Given the description of an element on the screen output the (x, y) to click on. 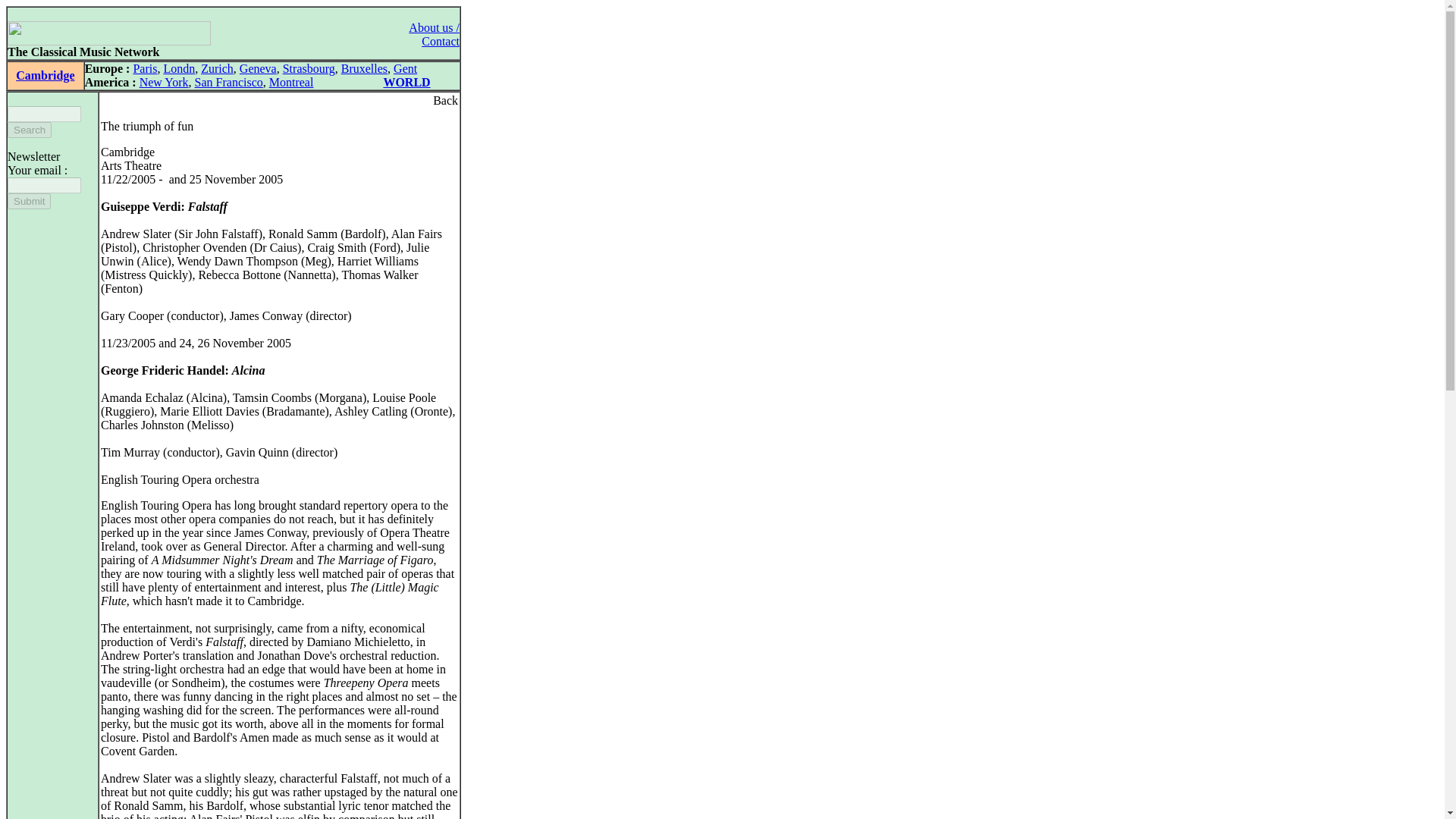
Montreal (291, 82)
Cambridge (45, 74)
Bruxelles (363, 68)
Back (445, 100)
Gent (404, 68)
Paris (144, 68)
Search (28, 130)
Search (28, 130)
Submit (28, 201)
Zurich (216, 68)
San Francisco (229, 82)
Geneva (258, 68)
Strasbourg (308, 68)
Submit (28, 201)
Londn (179, 68)
